Given the description of an element on the screen output the (x, y) to click on. 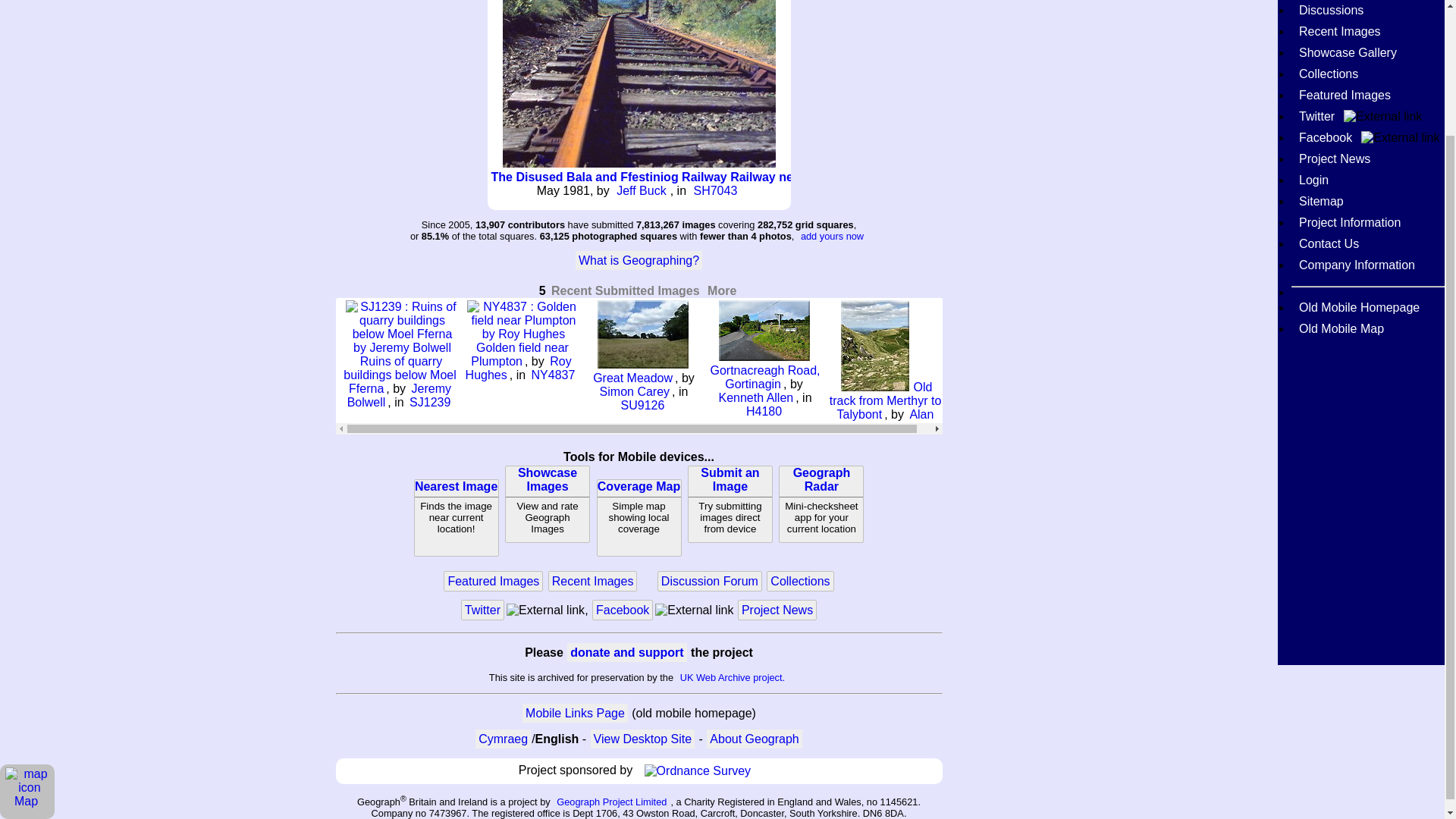
Kenneth Allen (820, 504)
Great Meadow (755, 397)
What is Geographing? (638, 517)
Jeff Buck (633, 377)
External link - shift click to open in new window (638, 260)
Golden field near Plumpton (640, 189)
Facebook (545, 610)
